Given the description of an element on the screen output the (x, y) to click on. 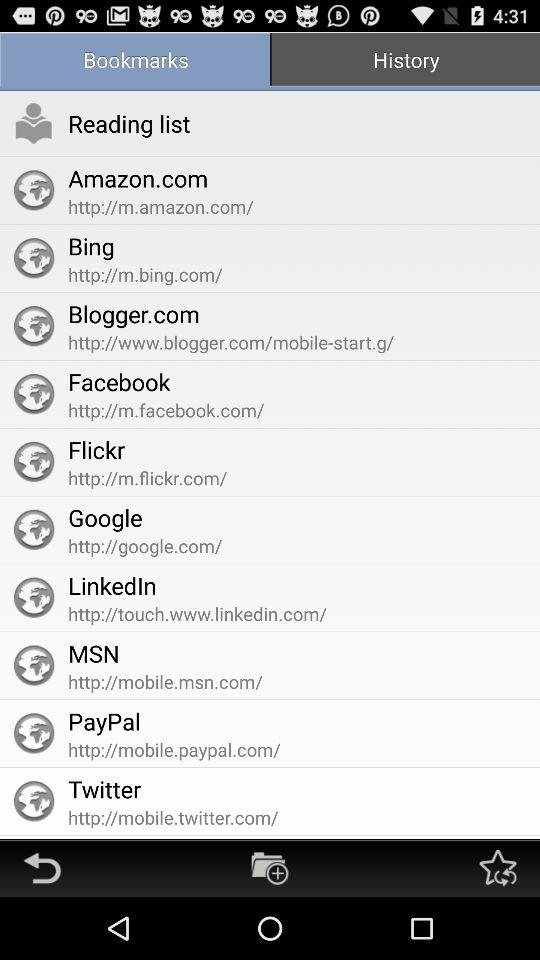
tap the app to the left of the history item (135, 61)
